Given the description of an element on the screen output the (x, y) to click on. 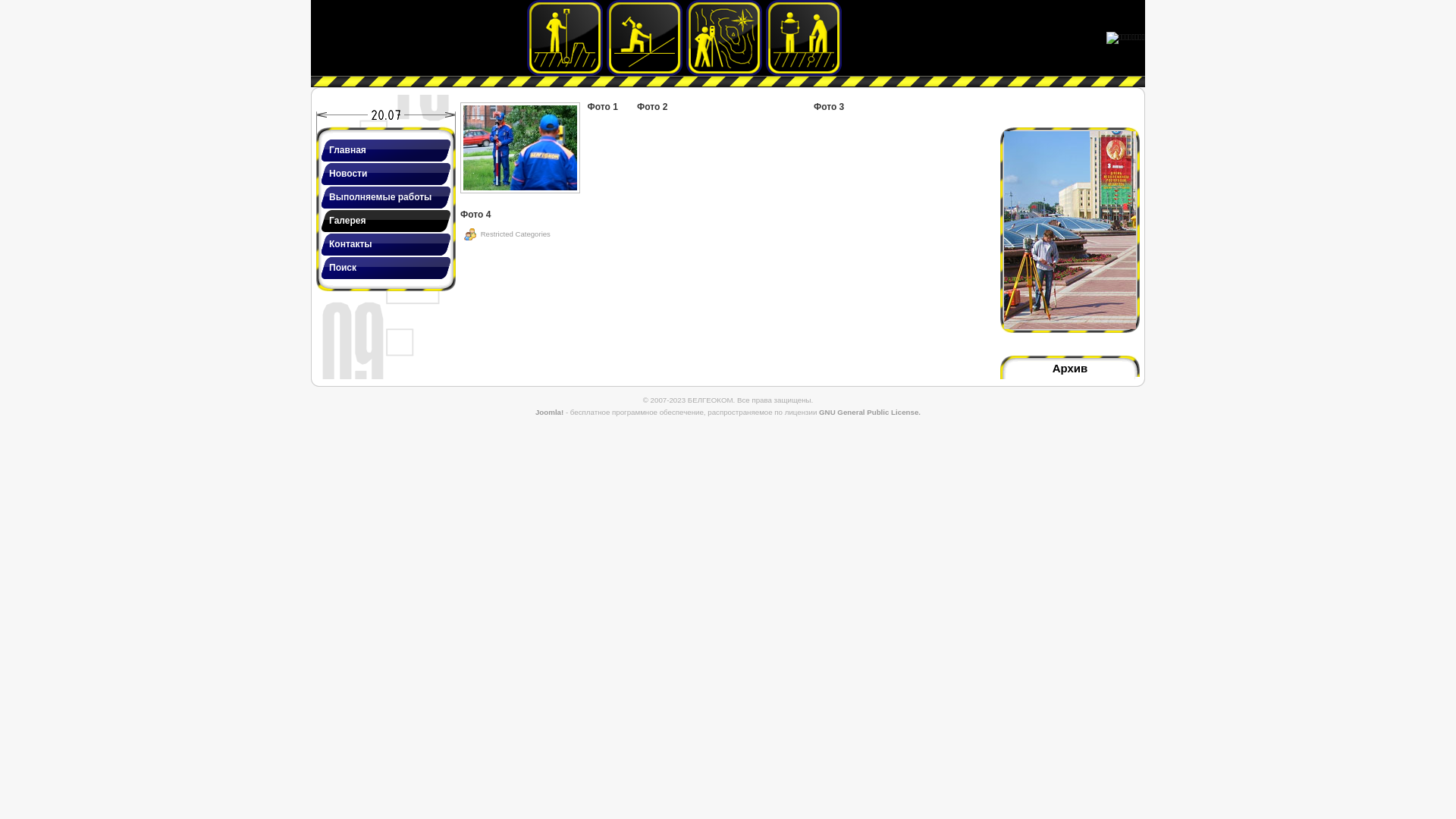
GNU General Public License. Element type: text (869, 411)
Joomla! Element type: text (549, 411)
